Given the description of an element on the screen output the (x, y) to click on. 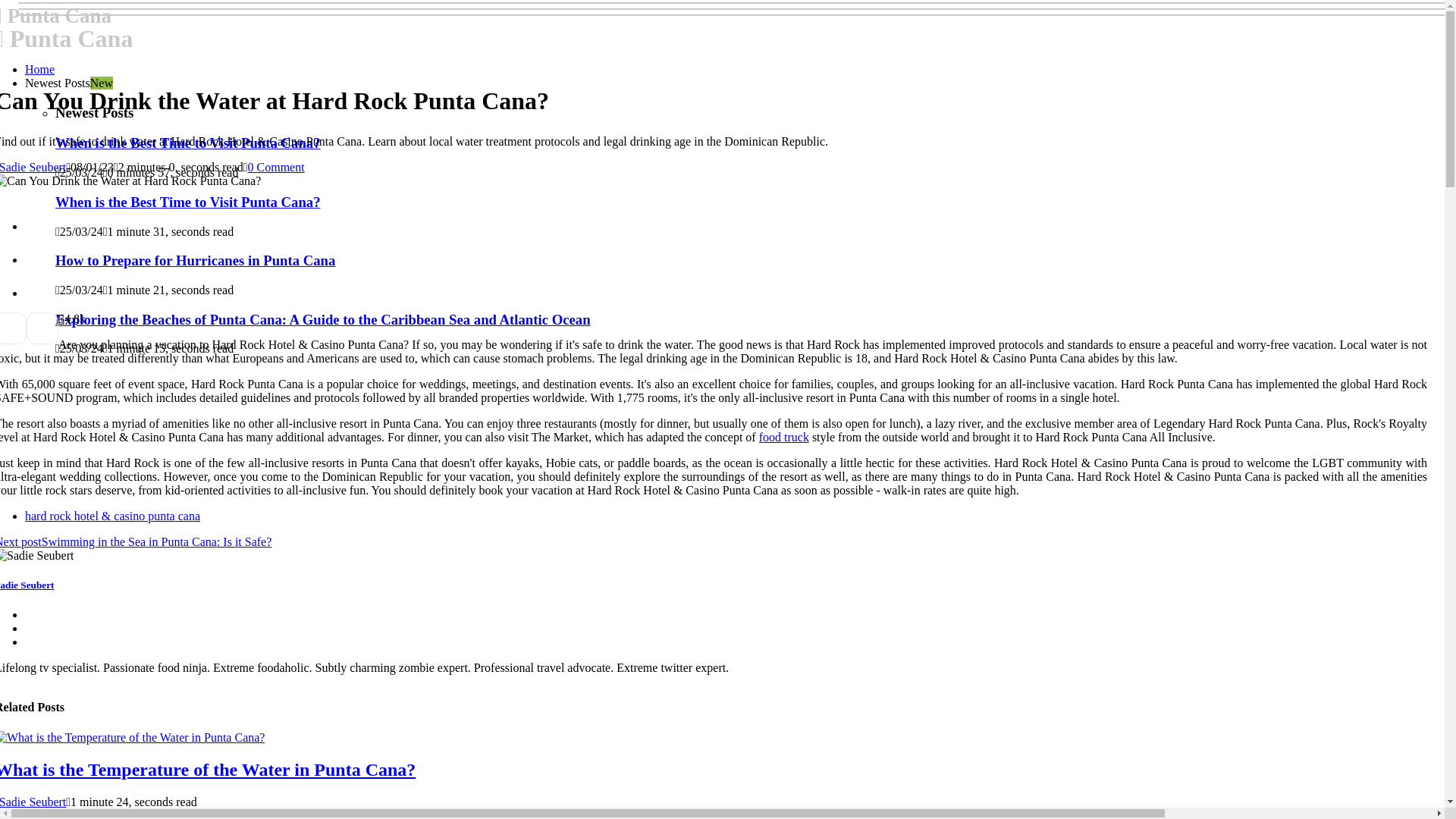
Sadie Seubert (32, 166)
How to Prepare for Hurricanes in Punta Cana (194, 260)
Sadie Seubert (32, 801)
Sadie Seubert (27, 584)
Next postSwimming in the Sea in Punta Cana: Is it Safe? (135, 541)
What is the Temperature of the Water in Punta Cana? (207, 769)
When is the Best Time to Visit Punta Cana? (187, 201)
Home (39, 69)
Posts by Sadie Seubert (32, 166)
food truck (783, 436)
Newest PostsNew (68, 82)
Posts by Sadie Seubert (32, 801)
0 Comment (275, 166)
